Given the description of an element on the screen output the (x, y) to click on. 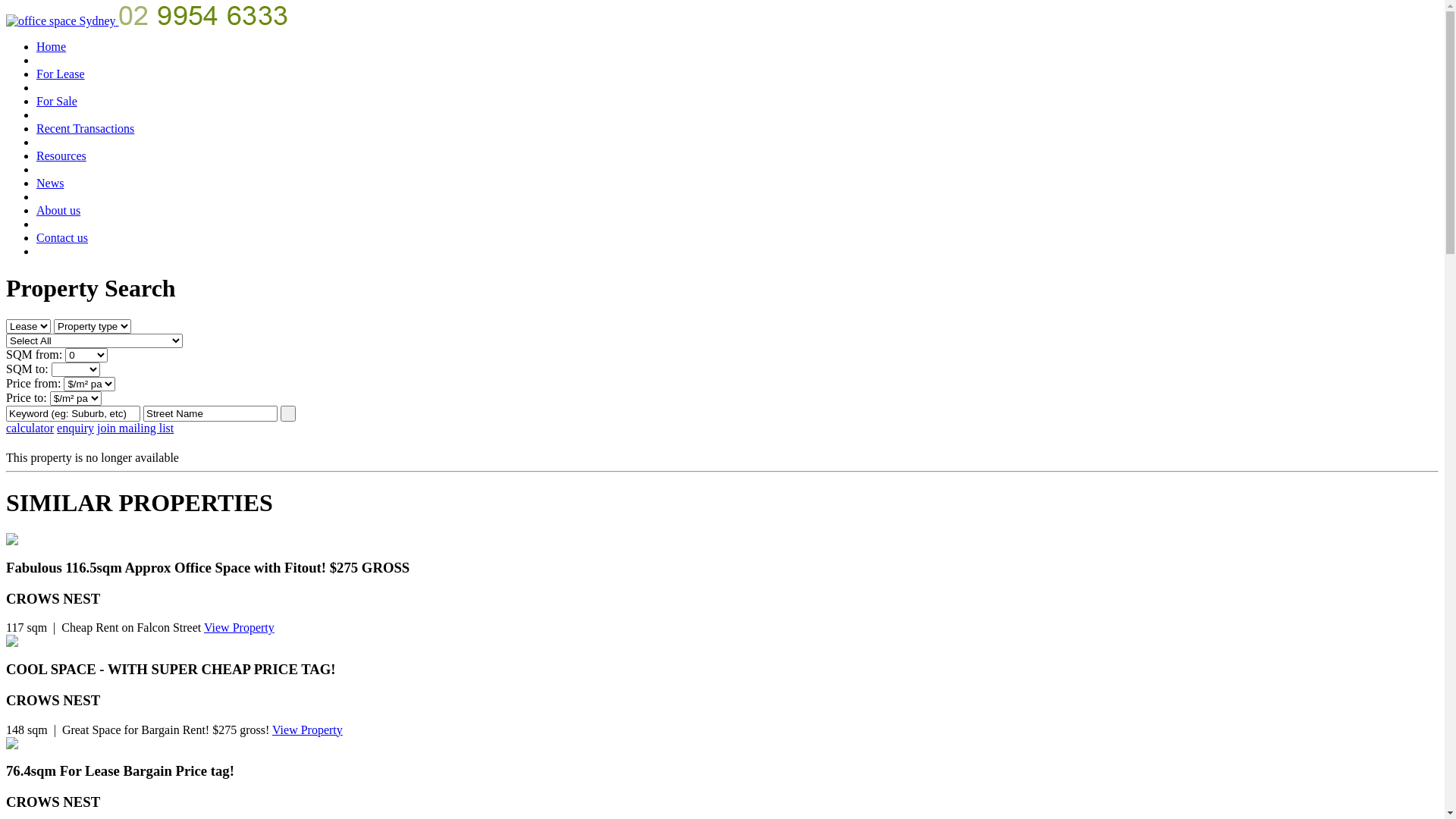
join mailing list Element type: text (135, 427)
Home Element type: text (50, 46)
  Element type: text (287, 413)
Recent Transactions Element type: text (85, 128)
For Sale Element type: text (56, 100)
View Property Element type: text (238, 627)
About us Element type: text (58, 209)
Contact us Element type: text (61, 237)
News Element type: text (49, 182)
Street Name Element type: text (210, 413)
calculator Element type: text (29, 427)
Resources Element type: text (61, 155)
enquiry Element type: text (75, 427)
View Property Element type: text (307, 729)
office space Sydney Element type: hover (62, 20)
Keyword (eg: Suburb, etc) Element type: text (73, 413)
For Lease Element type: text (60, 73)
